Given the description of an element on the screen output the (x, y) to click on. 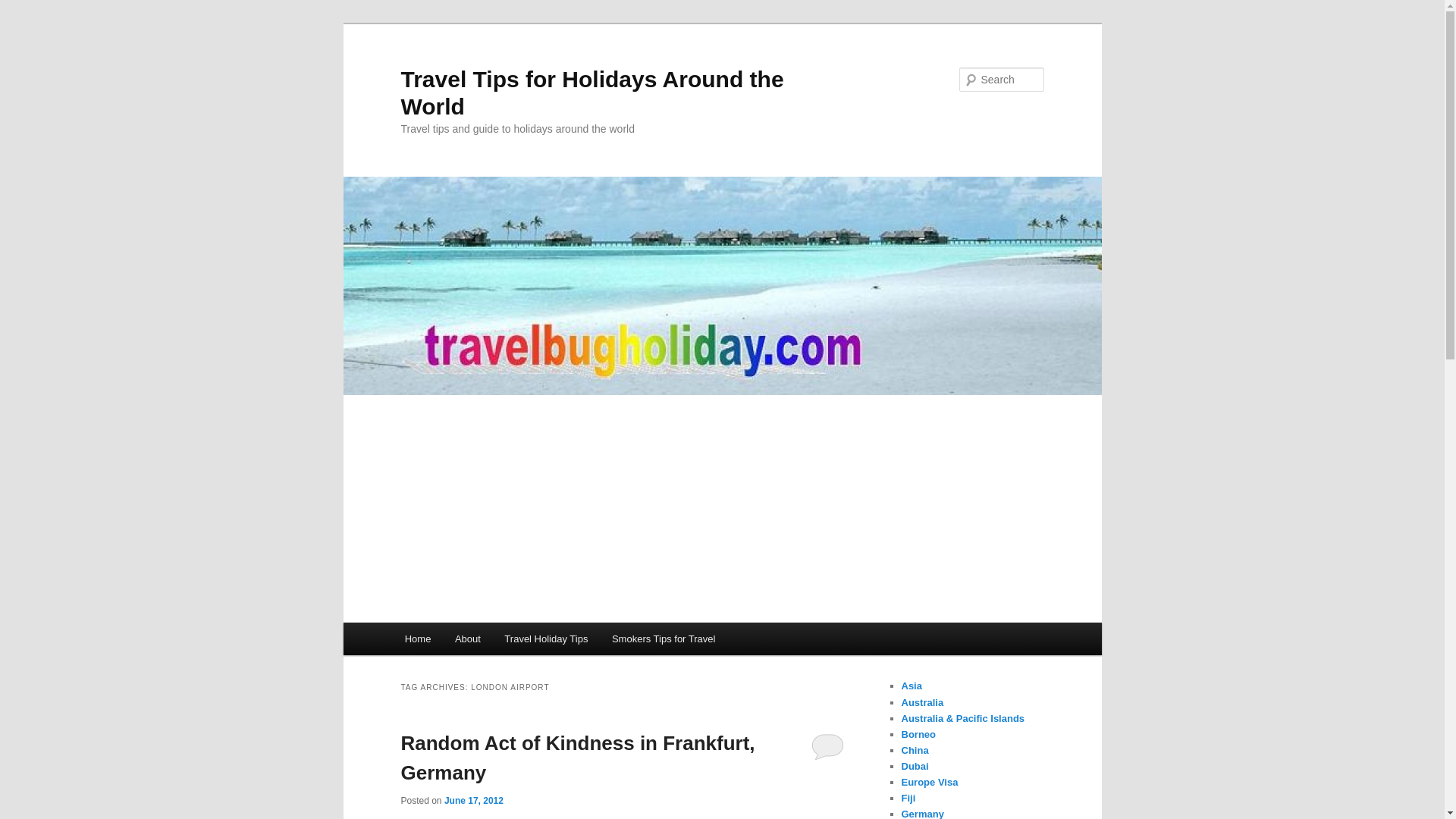
Australia (922, 702)
Smokers Tips for Travel (662, 638)
Travel Holiday Tips (546, 638)
Search (24, 8)
Germany (922, 813)
June 17, 2012 (473, 800)
China (914, 749)
About (467, 638)
Random Act of Kindness in Frankfurt, Germany (577, 757)
